Given the description of an element on the screen output the (x, y) to click on. 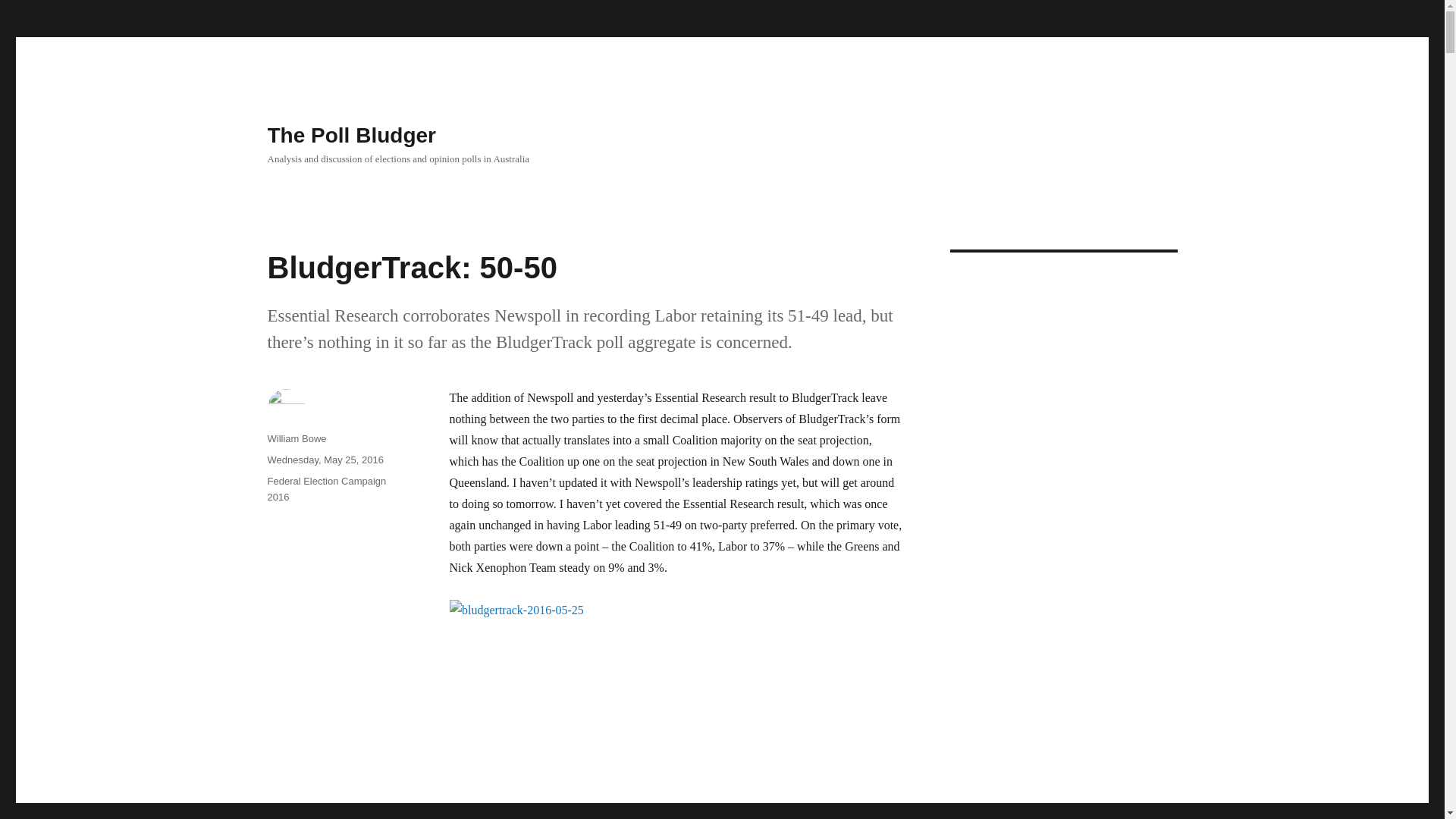
Wednesday, May 25, 2016 (324, 460)
William Bowe (296, 438)
The Poll Bludger (350, 135)
Federal Election Campaign 2016 (325, 488)
